Given the description of an element on the screen output the (x, y) to click on. 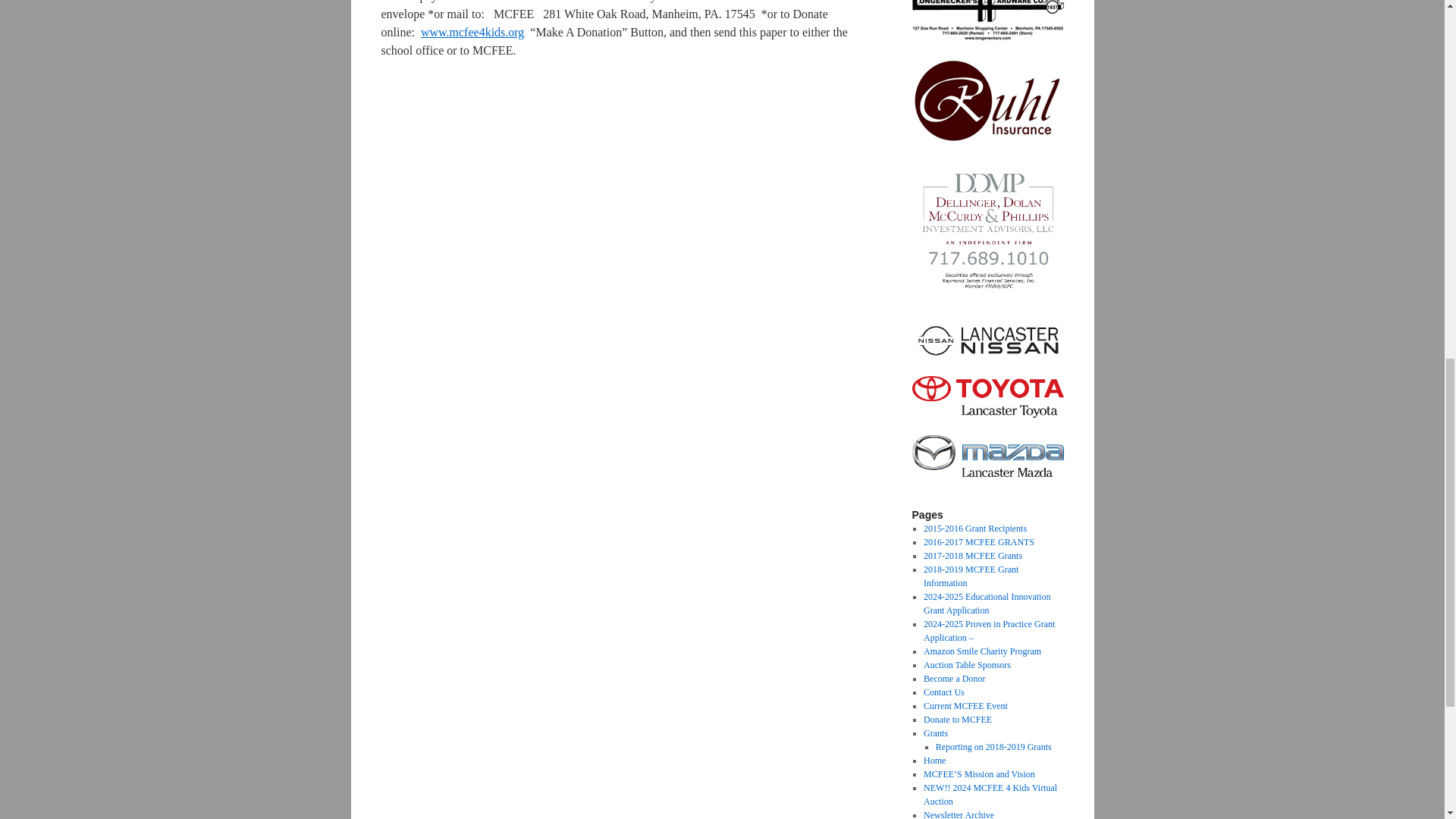
2017-2018 MCFEE Grants (972, 555)
2024-2025 Educational Innovation Grant Application (986, 603)
2016-2017 MCFEE GRANTS (978, 542)
2018-2019 MCFEE Grant Information (970, 576)
www.mcfee4kids.org (472, 31)
2015-2016 Grant Recipients (974, 528)
